Given the description of an element on the screen output the (x, y) to click on. 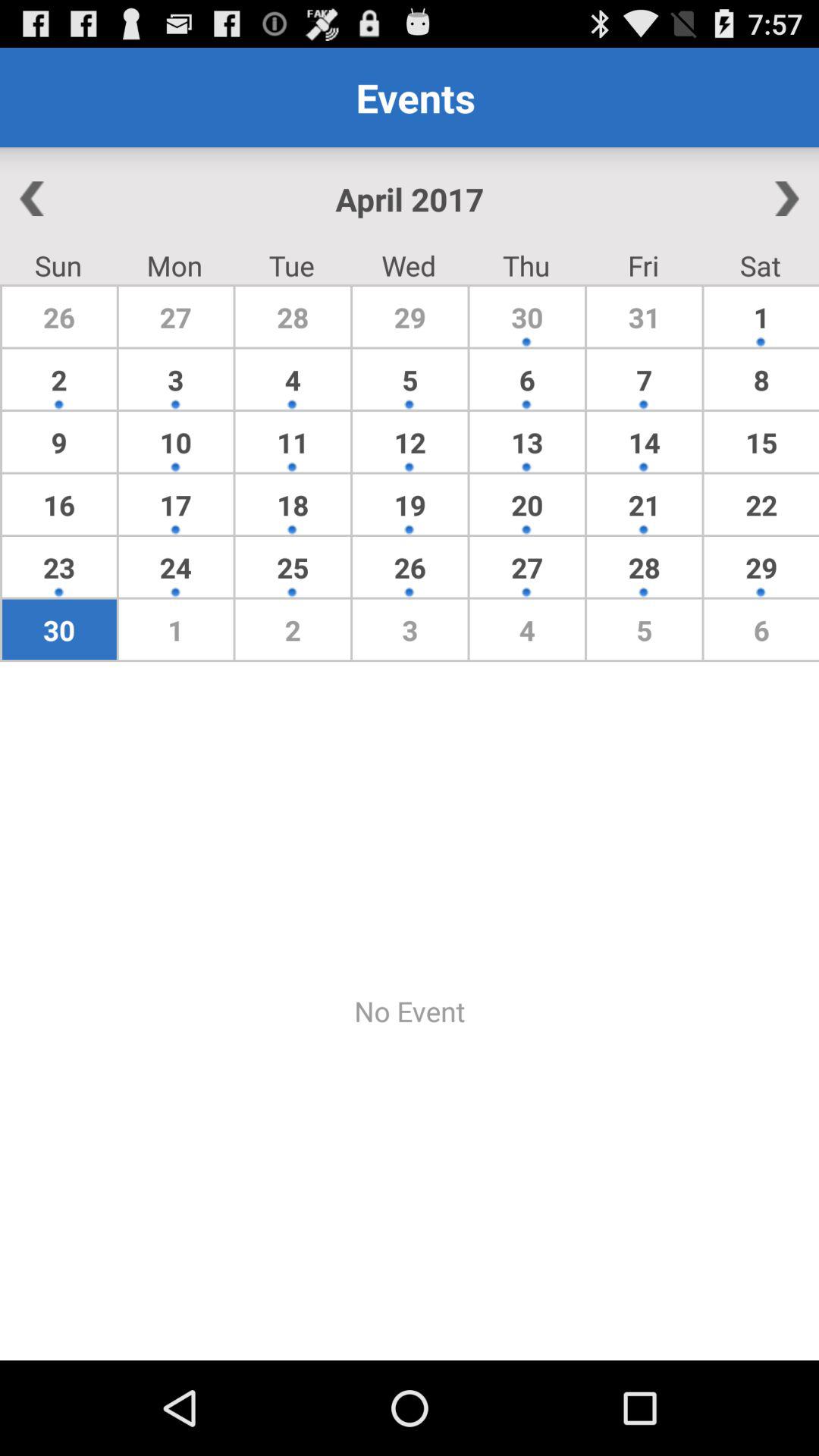
select the item below 16 (175, 566)
